Given the description of an element on the screen output the (x, y) to click on. 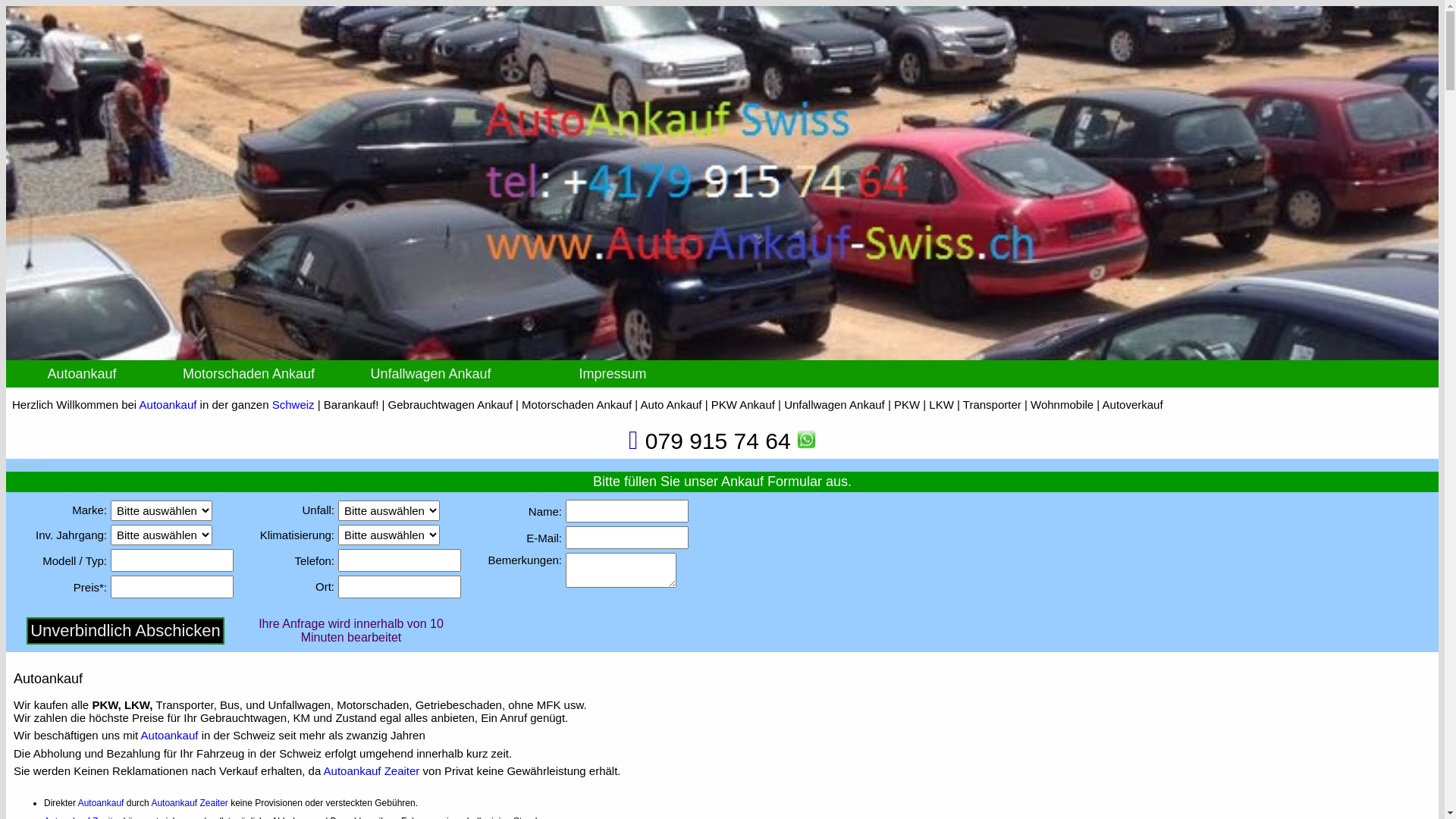
Unfallwagen Ankauf Element type: text (430, 373)
Autoankauf Element type: text (168, 404)
Motorschaden Ankauf Element type: text (248, 373)
Autoankauf Element type: text (81, 373)
Autoankauf Element type: text (101, 802)
Unverbindlich Abschicken Element type: text (125, 630)
Autoankauf Element type: text (352, 770)
Autoankauf Element type: text (169, 734)
Impressum Element type: text (612, 373)
Autoankauf Element type: text (173, 802)
